Given the description of an element on the screen output the (x, y) to click on. 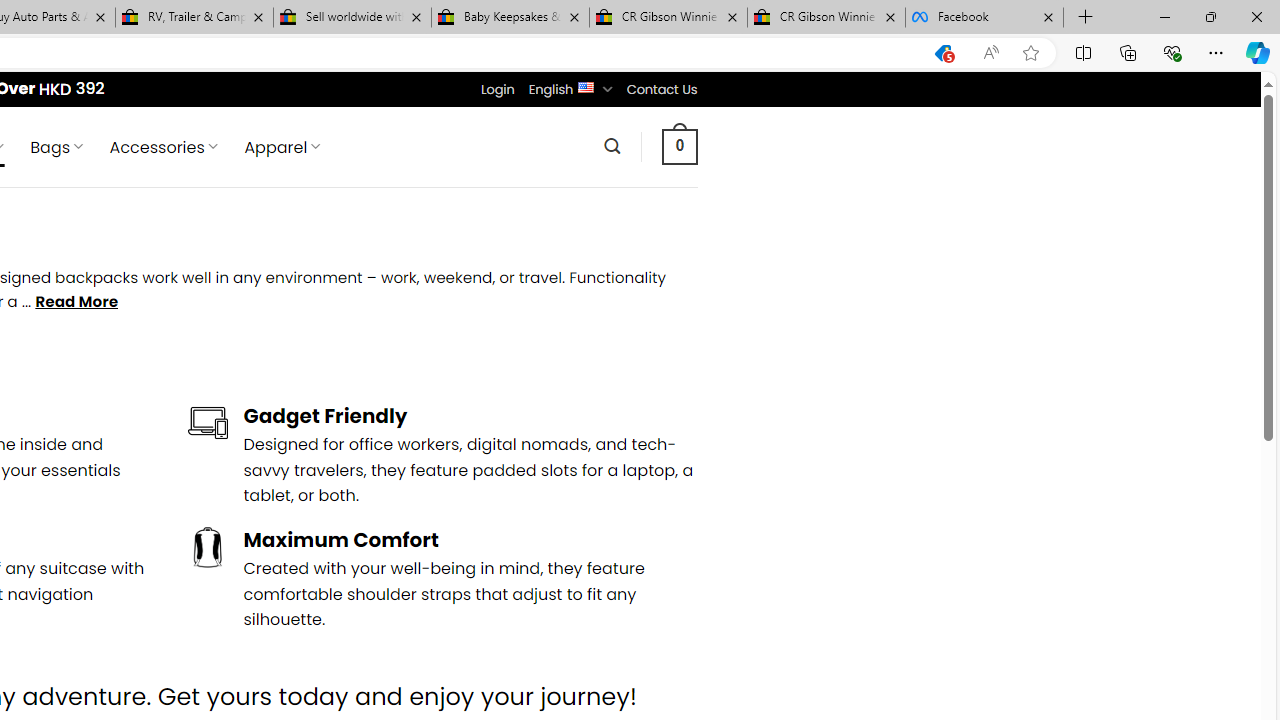
 0  (679, 146)
RV, Trailer & Camper Steps & Ladders for sale | eBay (194, 17)
Sell worldwide with eBay (352, 17)
Login (497, 89)
Read More (76, 301)
Login (497, 89)
  0   (679, 146)
